Given the description of an element on the screen output the (x, y) to click on. 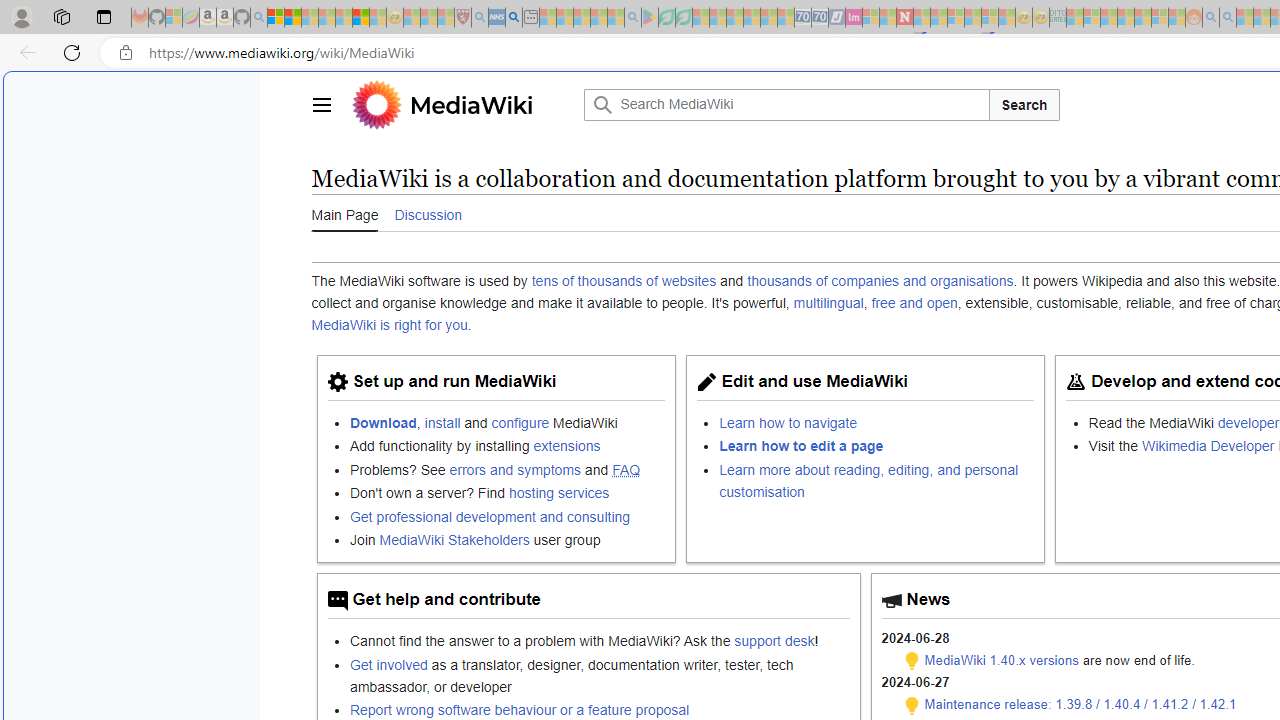
Maintenance release: 1.39.8 / 1.40.4 / 1.41.2 / 1.42.1 (1080, 704)
Learn how to navigate (877, 422)
utah sues federal government - Search (513, 17)
Main Page (344, 213)
Don't own a server? Find hosting services (507, 492)
Discussion (428, 214)
Main Page (344, 214)
